Given the description of an element on the screen output the (x, y) to click on. 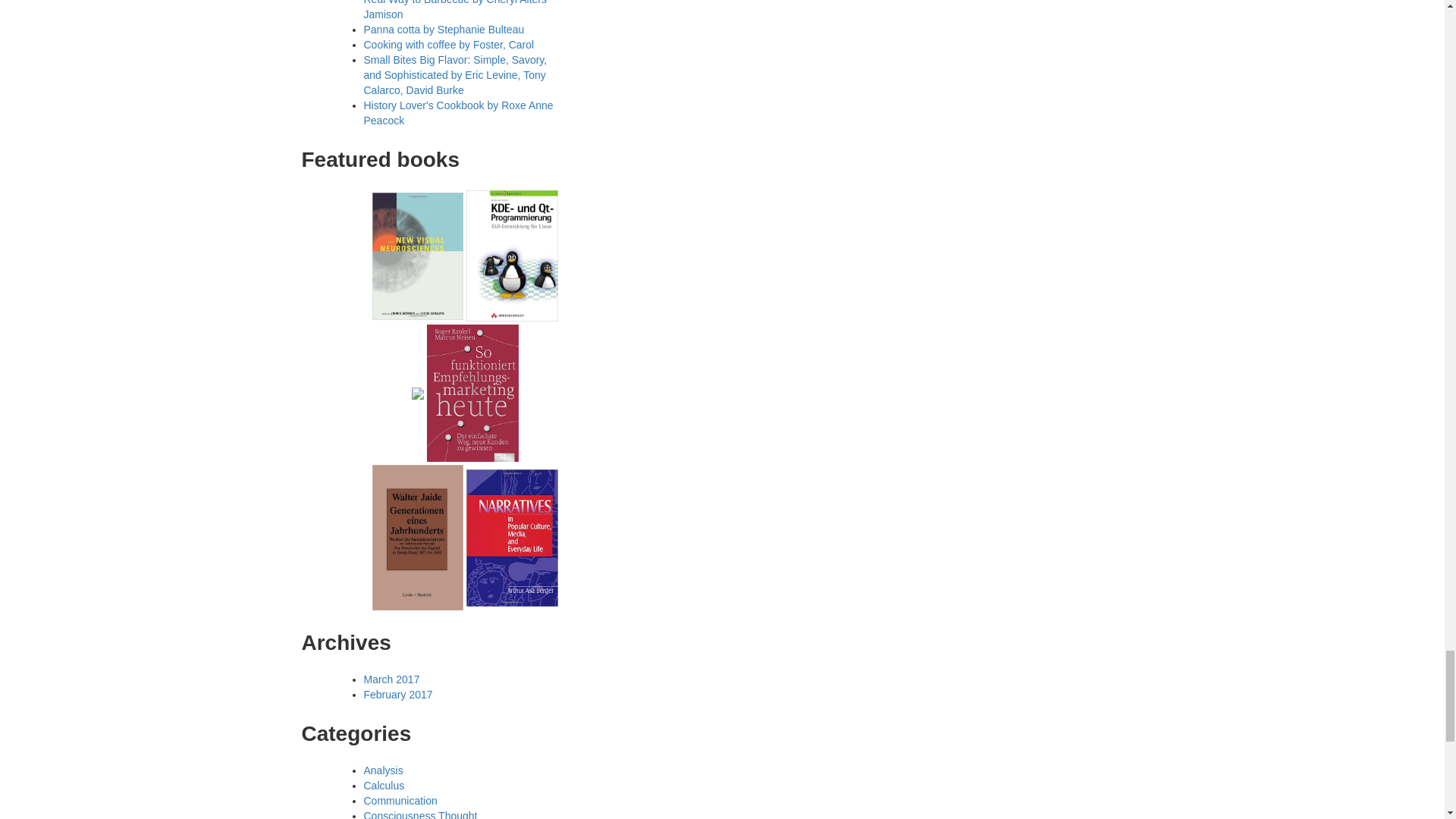
The visual neurosciences by John S. Werner, Leo M. Chalupa (418, 254)
KDE- und Qt-Programmierung (511, 254)
